Given the description of an element on the screen output the (x, y) to click on. 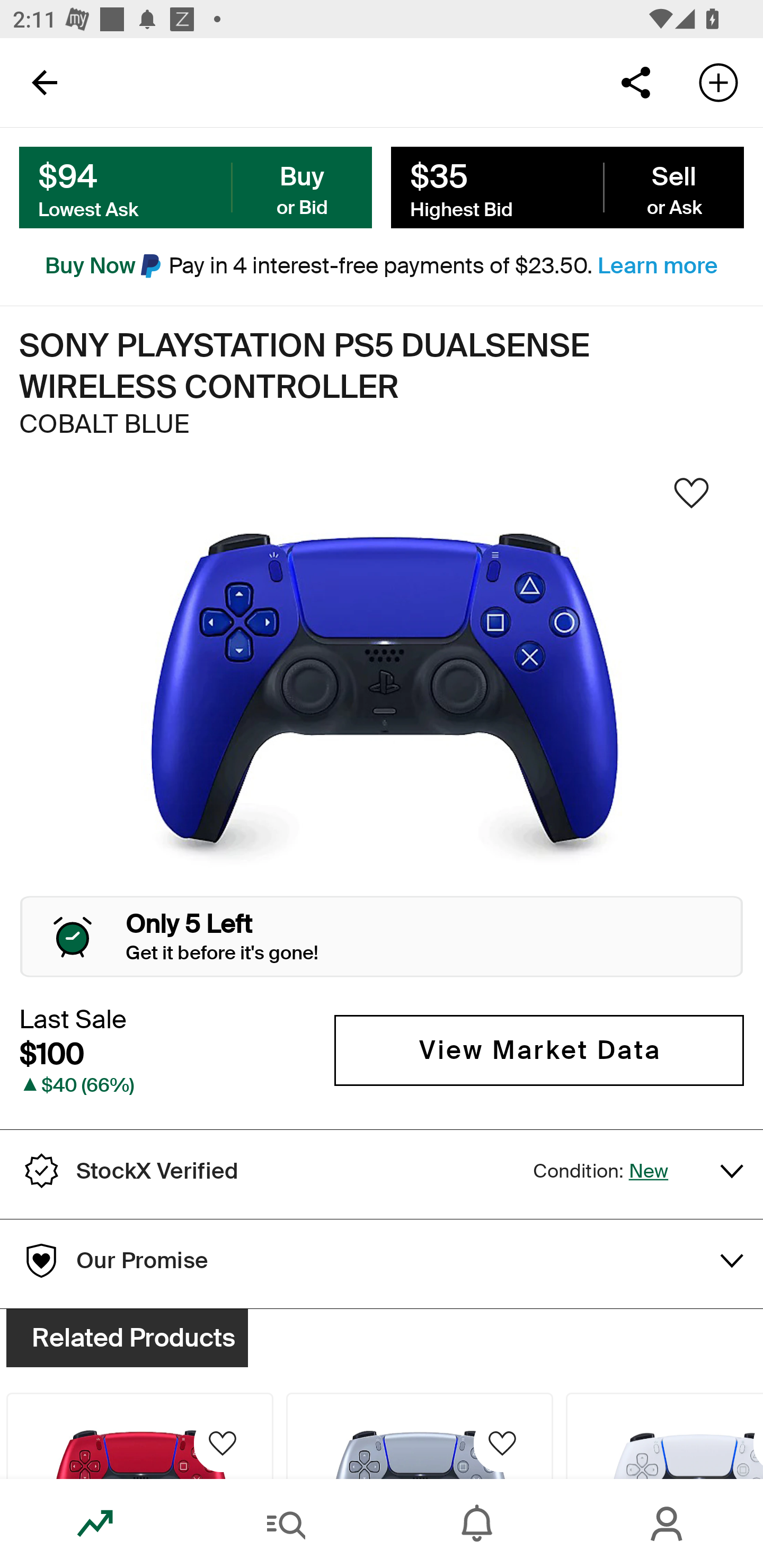
Share (635, 81)
Add (718, 81)
$233 Buy Lowest Ask or Bid (195, 187)
$219 Sell Highest Bid or Ask (566, 187)
Sneaker Image (381, 698)
View Market Data (538, 1050)
Search (285, 1523)
Inbox (476, 1523)
Account (667, 1523)
